Given the description of an element on the screen output the (x, y) to click on. 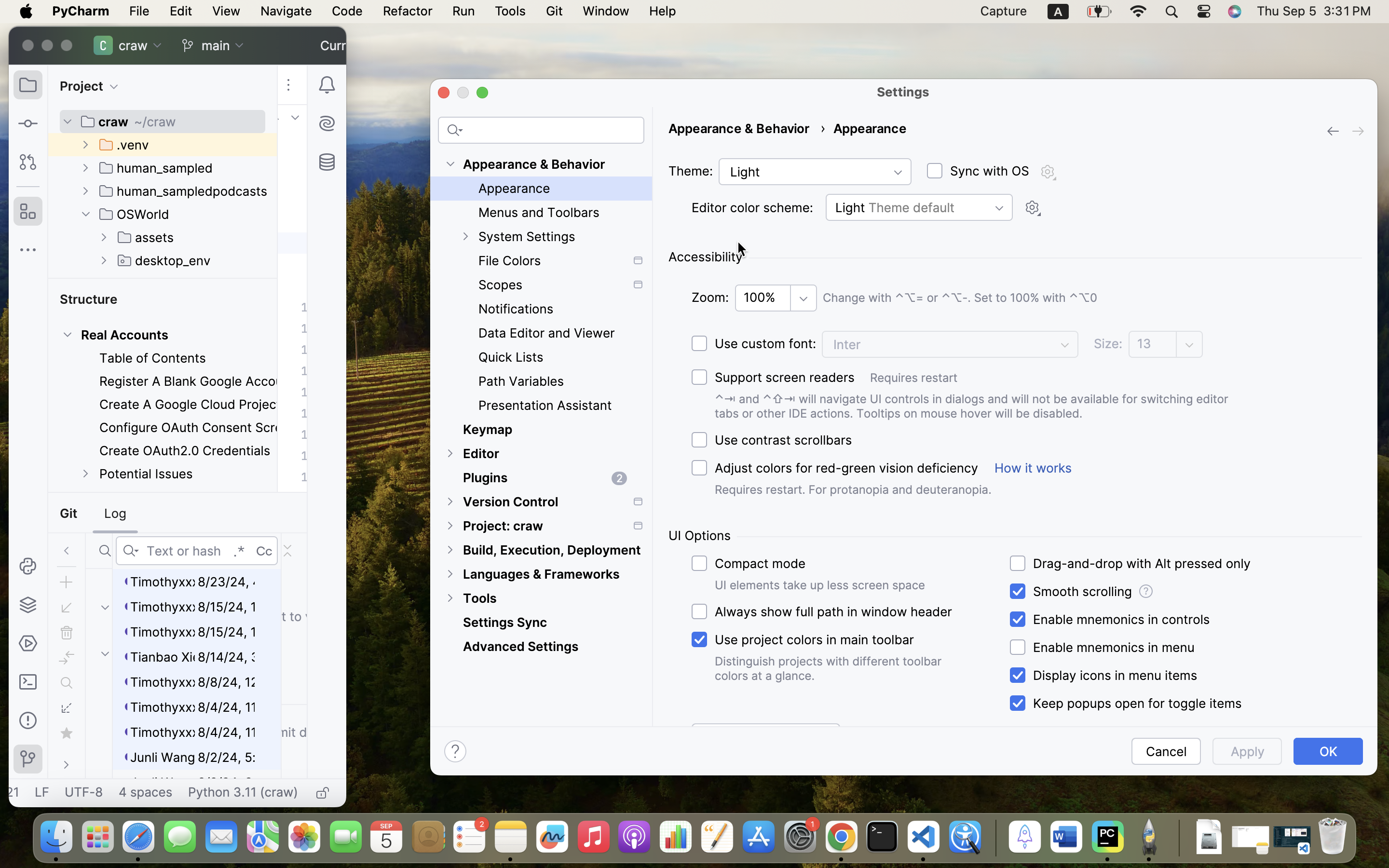
UI elements take up less screen space Element type: AXTextField (819, 584)
0 Element type: AXOutline (541, 439)
Inter Element type: AXPopUpButton (949, 343)
Size: Element type: AXStaticText (1107, 343)
Accessibility Element type: AXStaticText (705, 256)
